Given the description of an element on the screen output the (x, y) to click on. 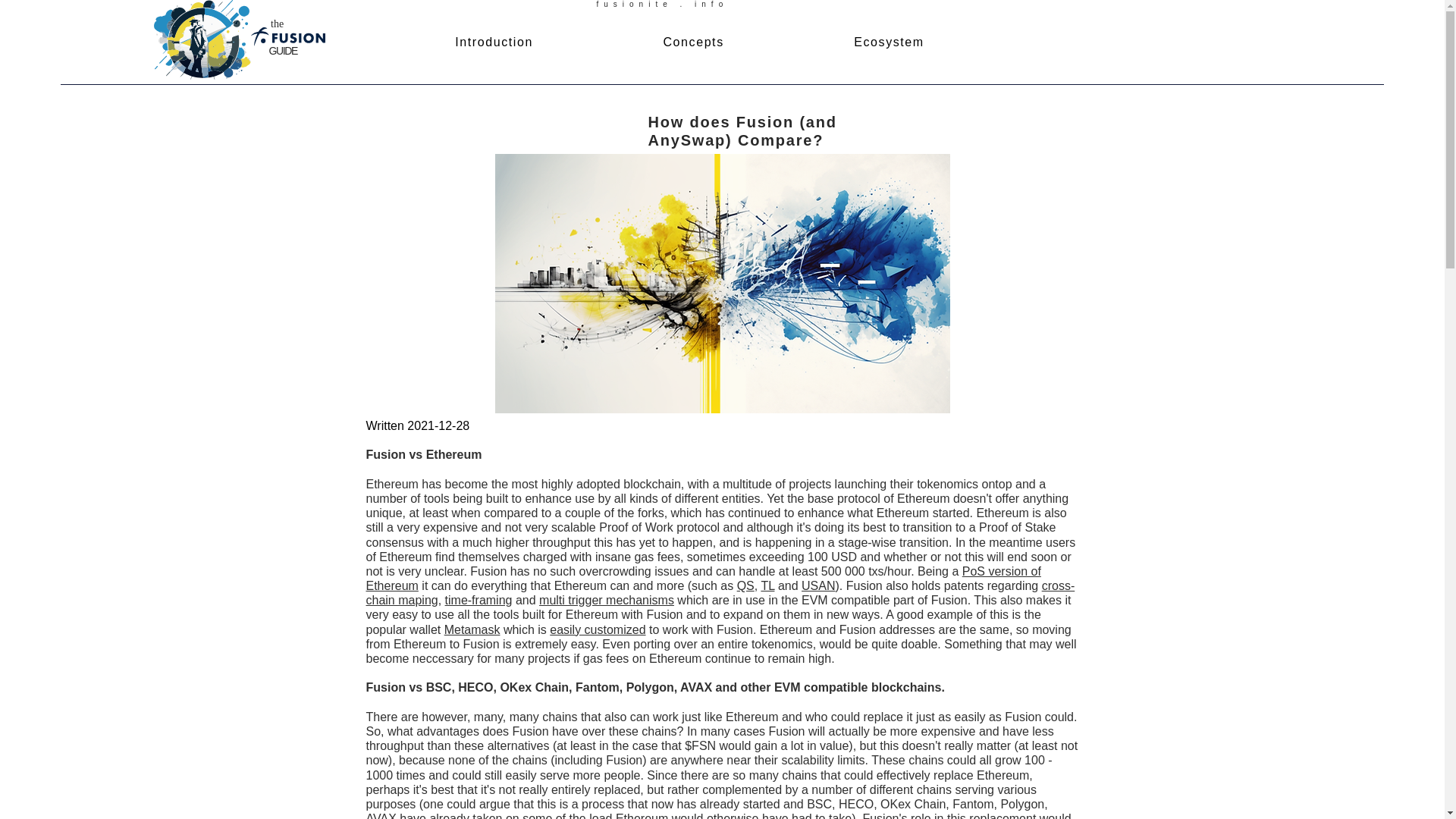
Introduction (493, 42)
Ecosystem (888, 42)
Concepts (693, 42)
